Given the description of an element on the screen output the (x, y) to click on. 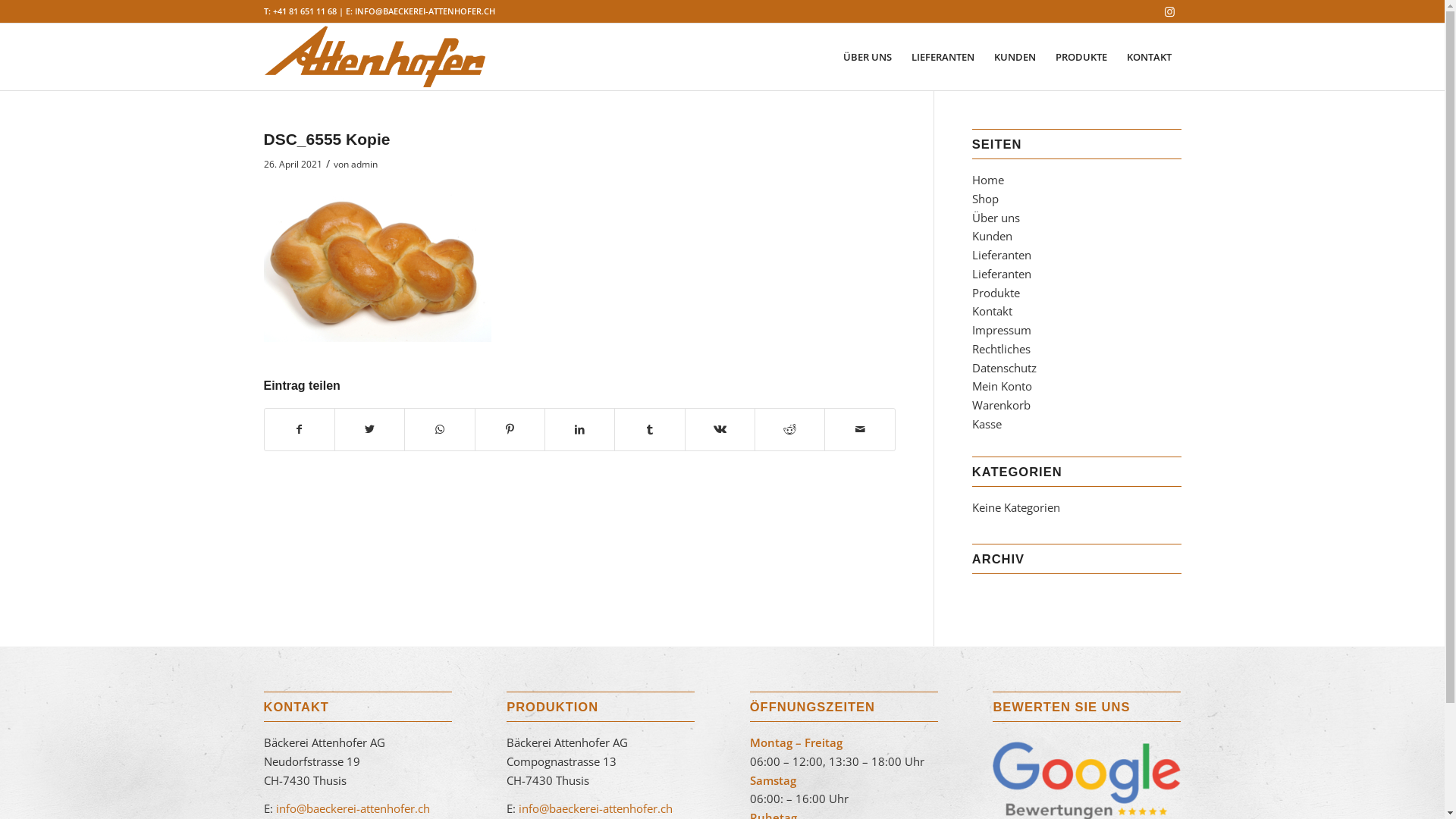
Datenschutz Element type: text (1004, 367)
Lieferanten Element type: text (1001, 254)
KUNDEN Element type: text (1014, 56)
Home Element type: text (988, 179)
Instagram Element type: hover (1169, 11)
Produkte Element type: text (995, 292)
info@baeckerei-attenhofer.ch Element type: text (351, 807)
Impressum Element type: text (1001, 329)
INFO@BAECKEREI-ATTENHOFER.CH Element type: text (424, 10)
admin Element type: text (363, 163)
Rechtliches Element type: text (1001, 348)
Shop Element type: text (985, 198)
info@baeckerei-attenhofer.ch Element type: text (593, 807)
PRODUKTE Element type: text (1080, 56)
Lieferanten Element type: text (1001, 273)
LIEFERANTEN Element type: text (941, 56)
Warenkorb Element type: text (1001, 404)
DSC_6555 Kopie Element type: text (326, 138)
Kasse Element type: text (986, 423)
Mein Konto Element type: text (1002, 385)
Kontakt Element type: text (992, 310)
KONTAKT Element type: text (1148, 56)
Kunden Element type: text (992, 235)
